Given the description of an element on the screen output the (x, y) to click on. 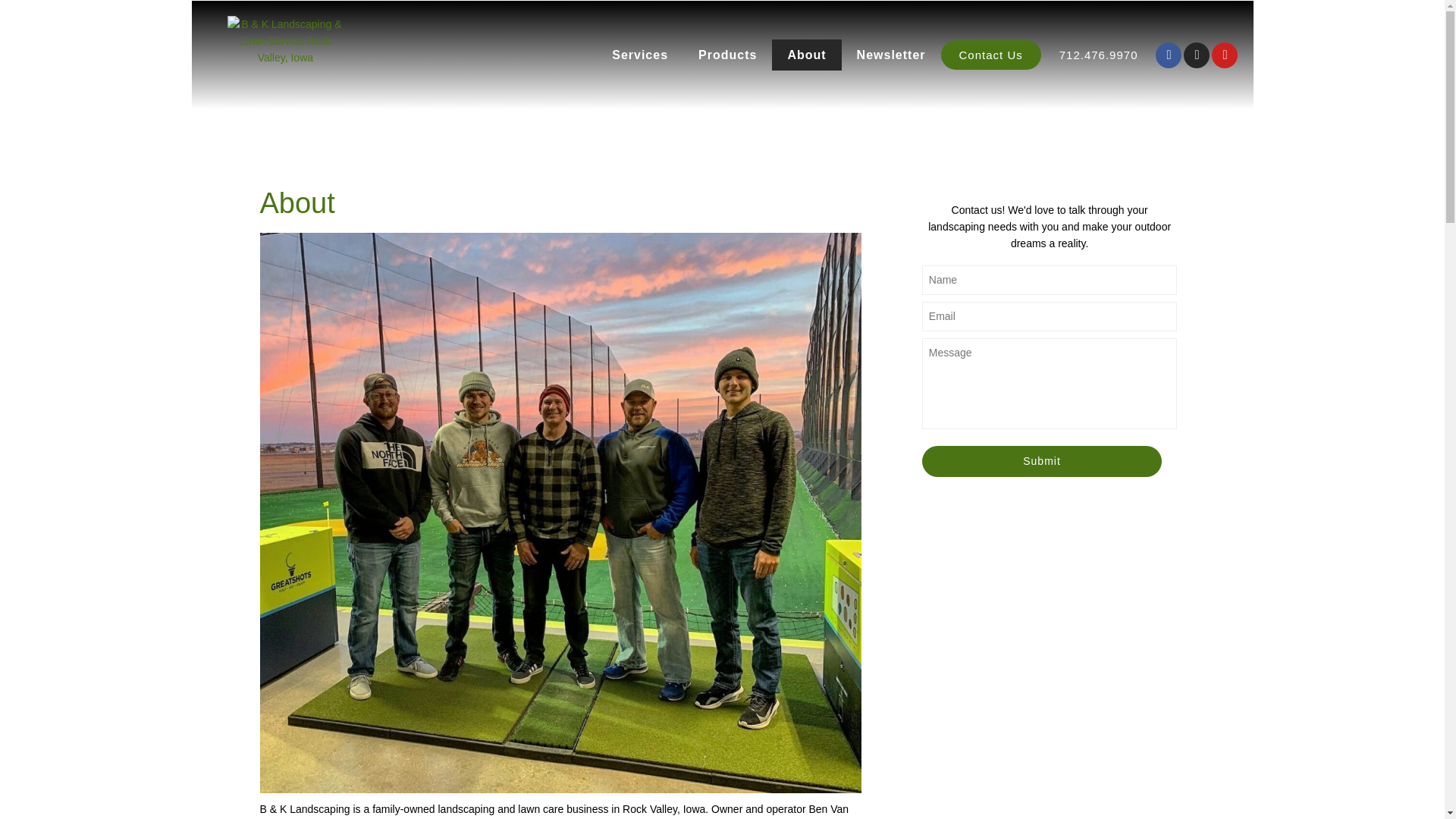
Newsletter (890, 54)
Submit (1041, 460)
Services (639, 54)
About (806, 54)
Products (726, 54)
